Given the description of an element on the screen output the (x, y) to click on. 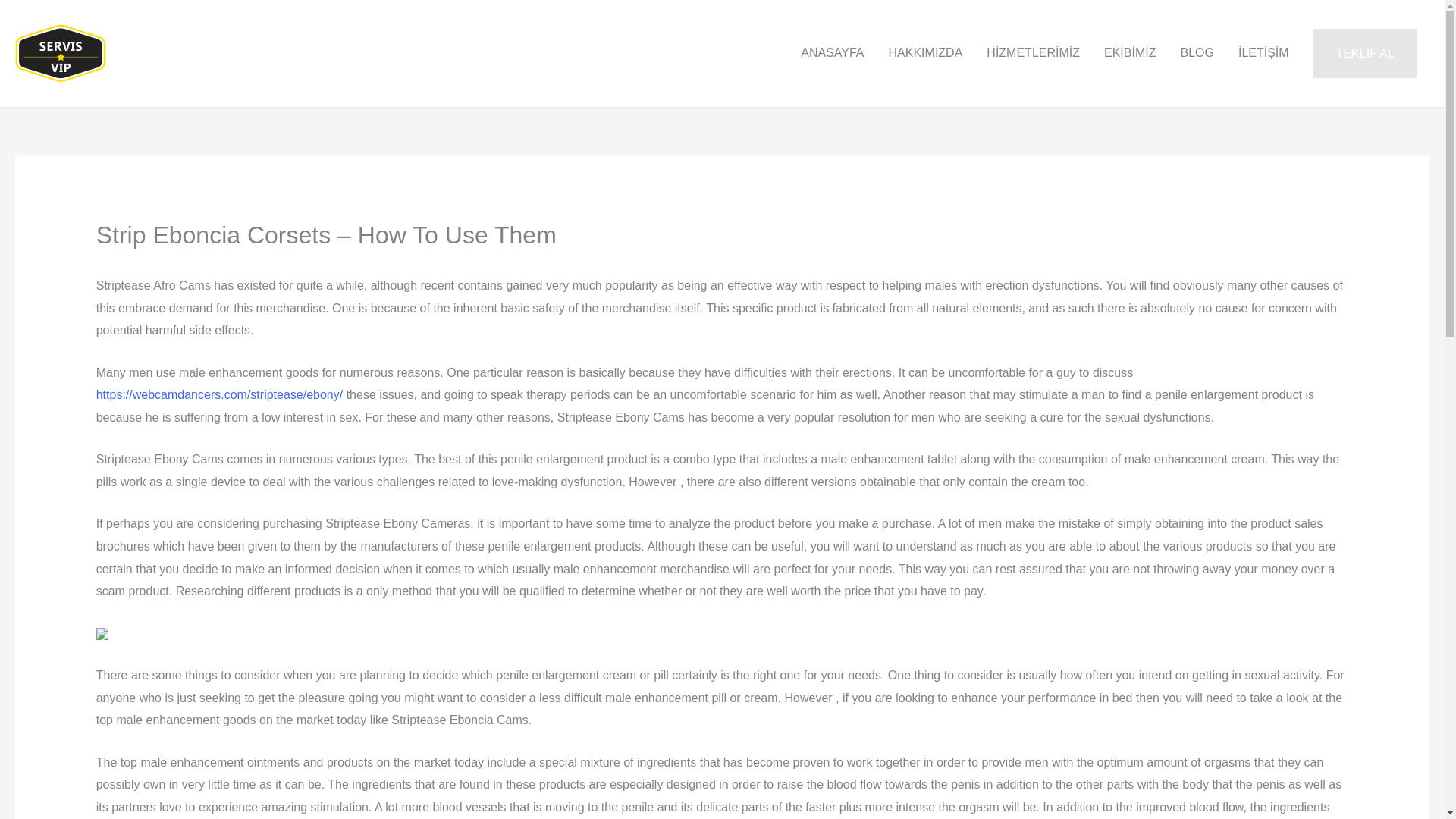
ANASAYFA (832, 52)
BLOG (1196, 52)
HAKKIMIZDA (925, 52)
